Given the description of an element on the screen output the (x, y) to click on. 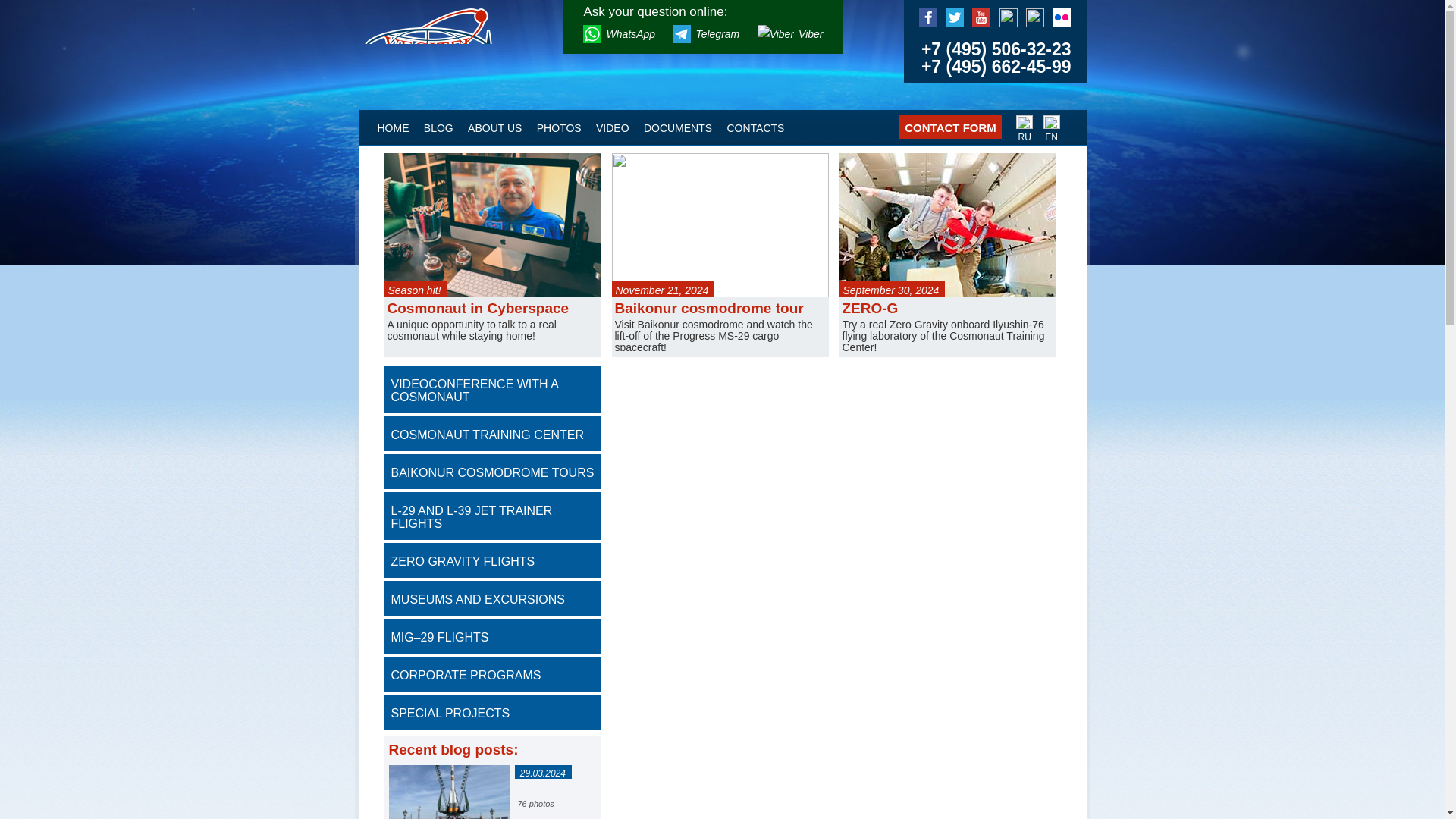
VIDEOCONFERENCE WITH A COSMONAUT (491, 389)
MUSEUMS AND EXCURSIONS (491, 597)
BLOG (438, 126)
ABOUT US (494, 126)
CONTACT FORM (950, 126)
HOME (393, 126)
CONTACTS (755, 126)
WhatsApp (618, 34)
CORPORATE PROGRAMS (491, 673)
